Given the description of an element on the screen output the (x, y) to click on. 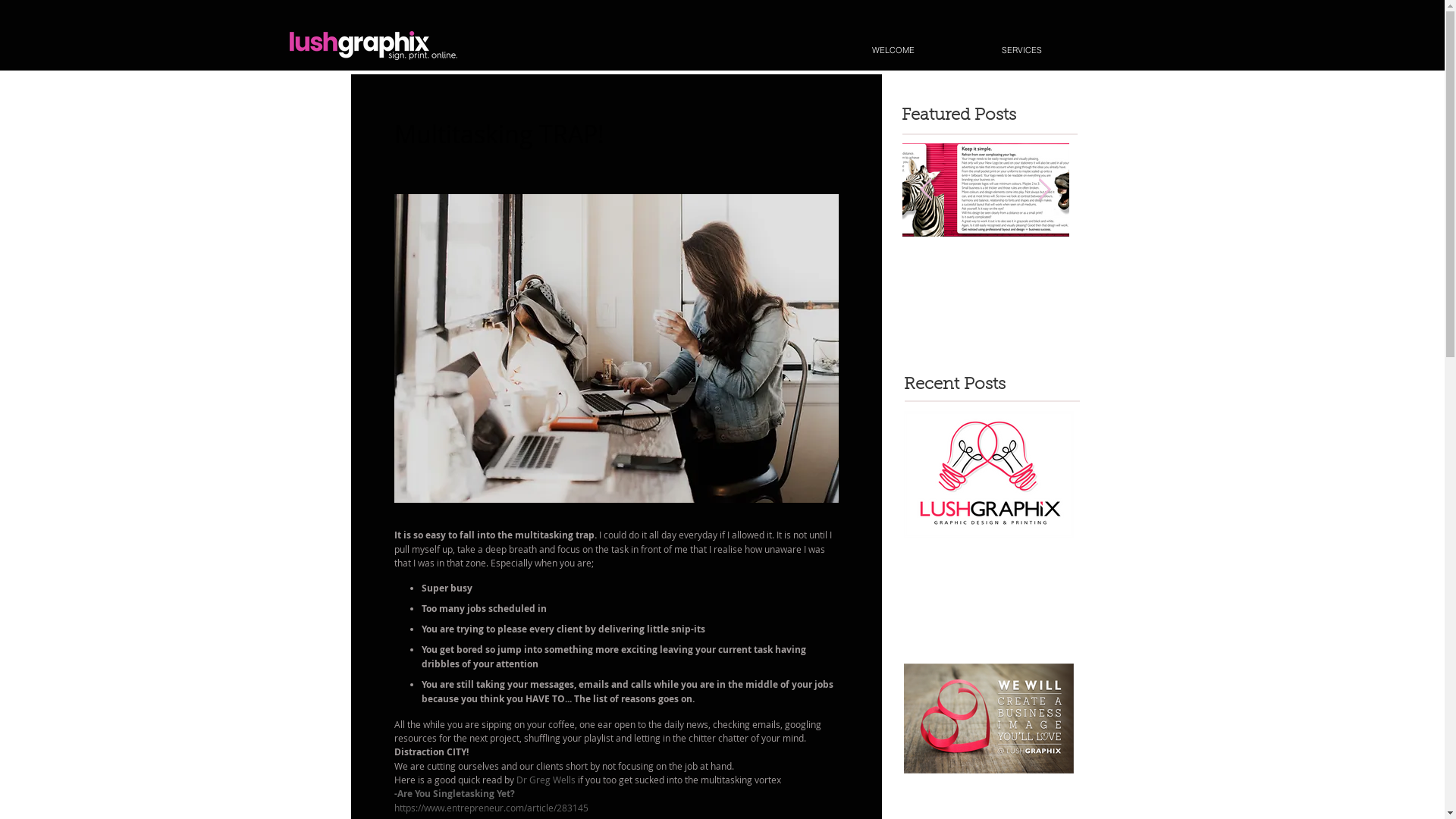
businessbranding Element type: text (438, 278)
graphic design Element type: text (473, 301)
graphicdesign Element type: text (596, 256)
design Element type: text (410, 301)
Post not marked as liked Element type: text (830, 399)
Two heads are better than one Element type: text (985, 279)
business Element type: text (724, 256)
designtips Element type: text (667, 256)
entrepreneur Element type: text (773, 278)
SERVICES Element type: text (1021, 49)
retail Element type: text (768, 256)
worklife Element type: text (712, 278)
wealth growth Element type: text (580, 278)
WELCOME Element type: text (892, 49)
logos Element type: text (407, 256)
Two heads are better than one Element type: text (988, 562)
Investing in your Business's Image Element type: text (988, 804)
logodesign Element type: text (457, 256)
Investing in your Business's Image Element type: text (1152, 279)
branding Element type: text (514, 278)
office Element type: text (532, 301)
lushgraphix Element type: text (523, 256)
multitasking Element type: text (654, 278)
